Given the description of an element on the screen output the (x, y) to click on. 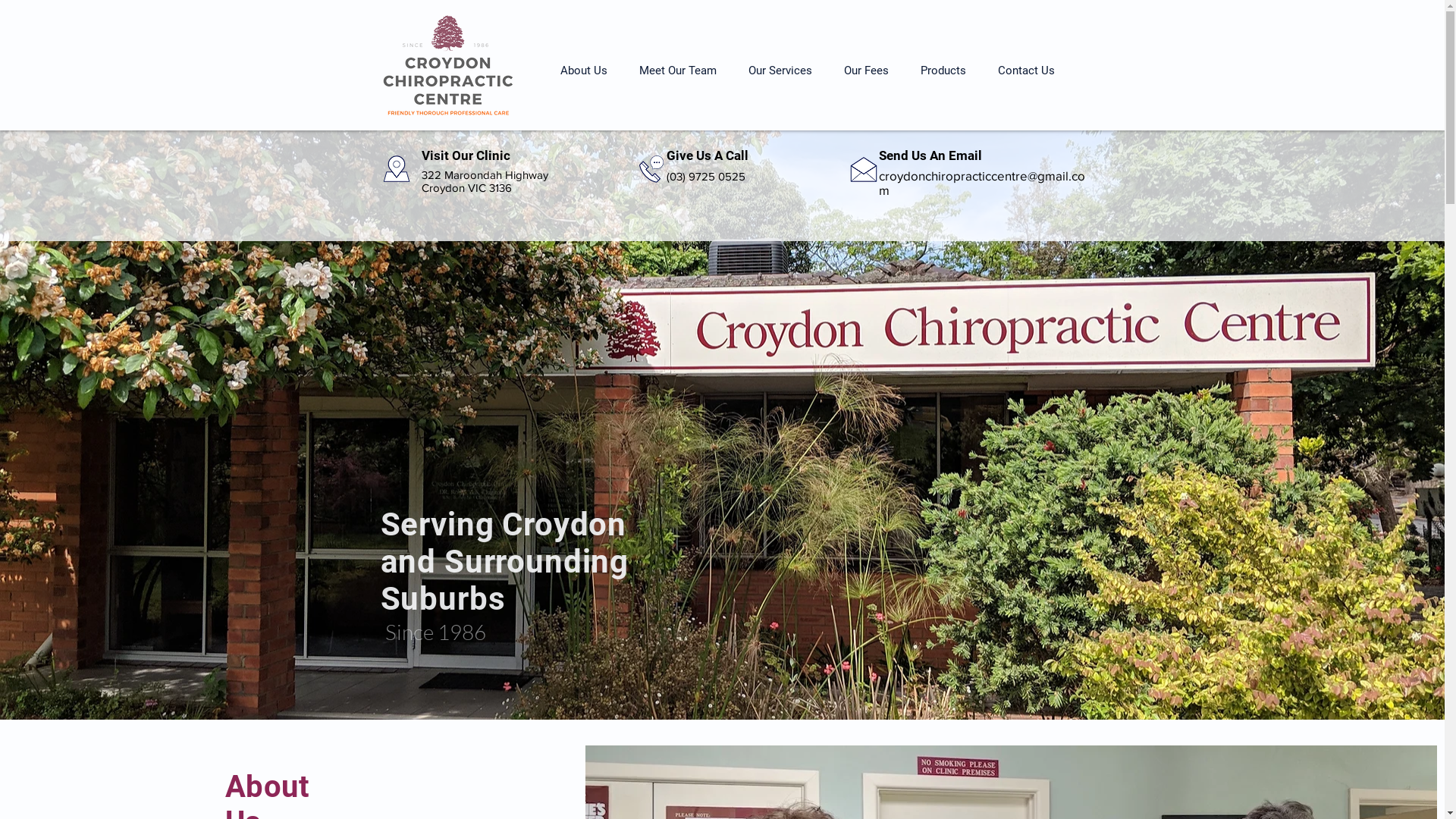
croydonchiropracticcentre@gmail.com Element type: text (981, 182)
About Us Element type: text (583, 70)
Our Fees Element type: text (866, 70)
Contact Us Element type: text (1025, 70)
Meet Our Team Element type: text (677, 70)
Products Element type: text (942, 70)
